Given the description of an element on the screen output the (x, y) to click on. 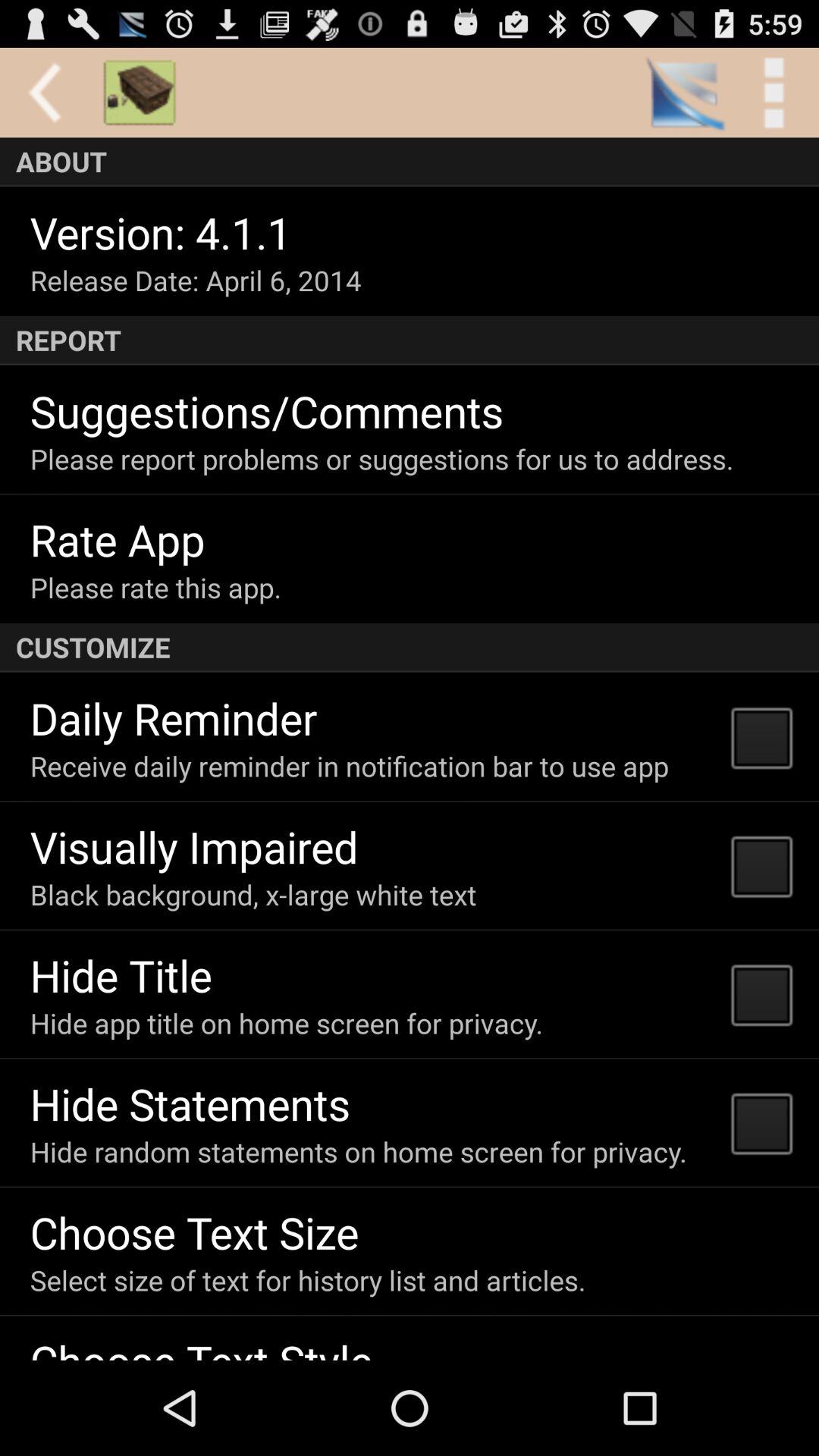
press version 4 1 item (160, 232)
